Given the description of an element on the screen output the (x, y) to click on. 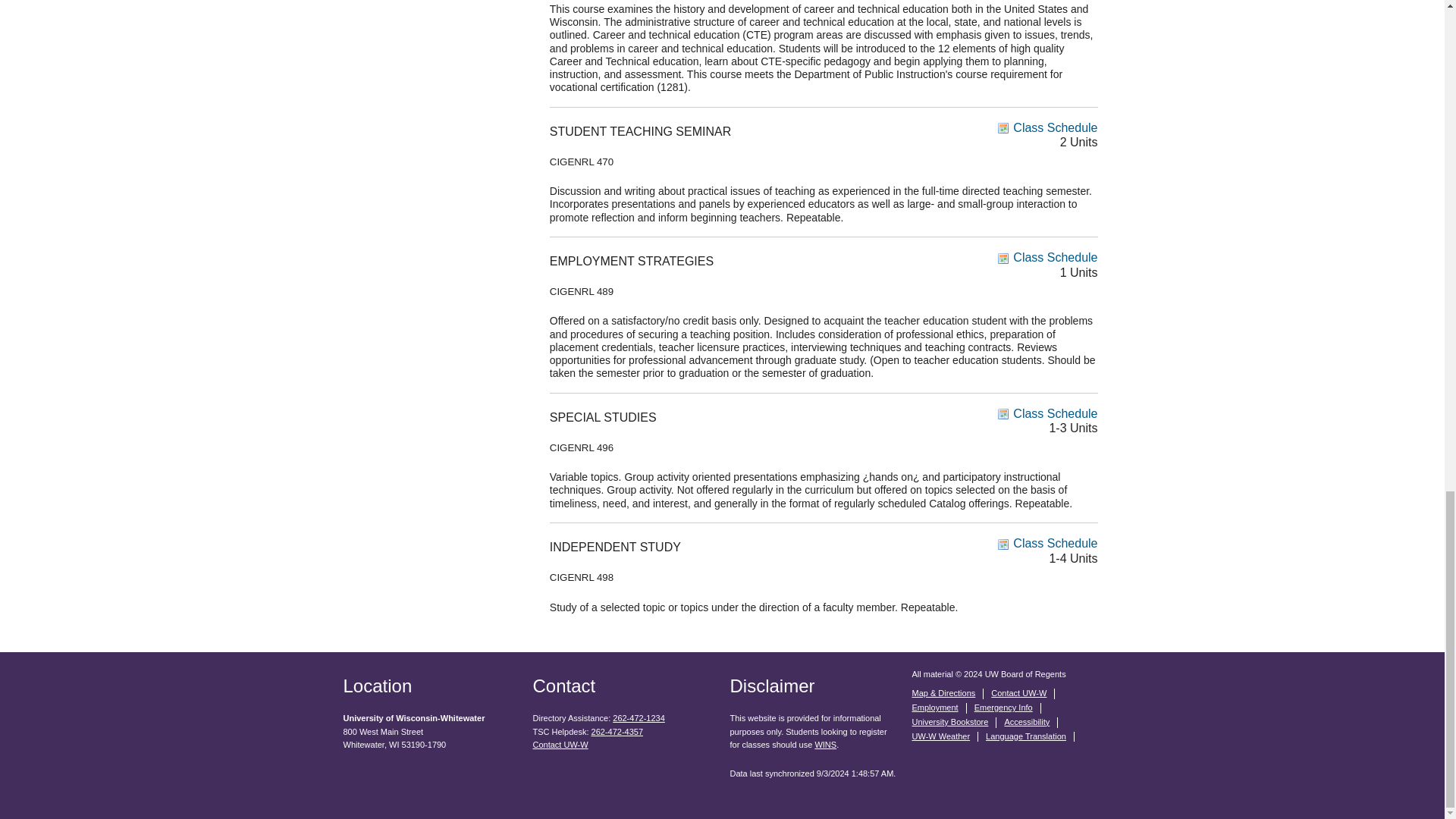
Class Schedule (1047, 413)
Class Schedule (1047, 543)
Class Schedule (1047, 256)
Class Schedule (1047, 127)
